Given the description of an element on the screen output the (x, y) to click on. 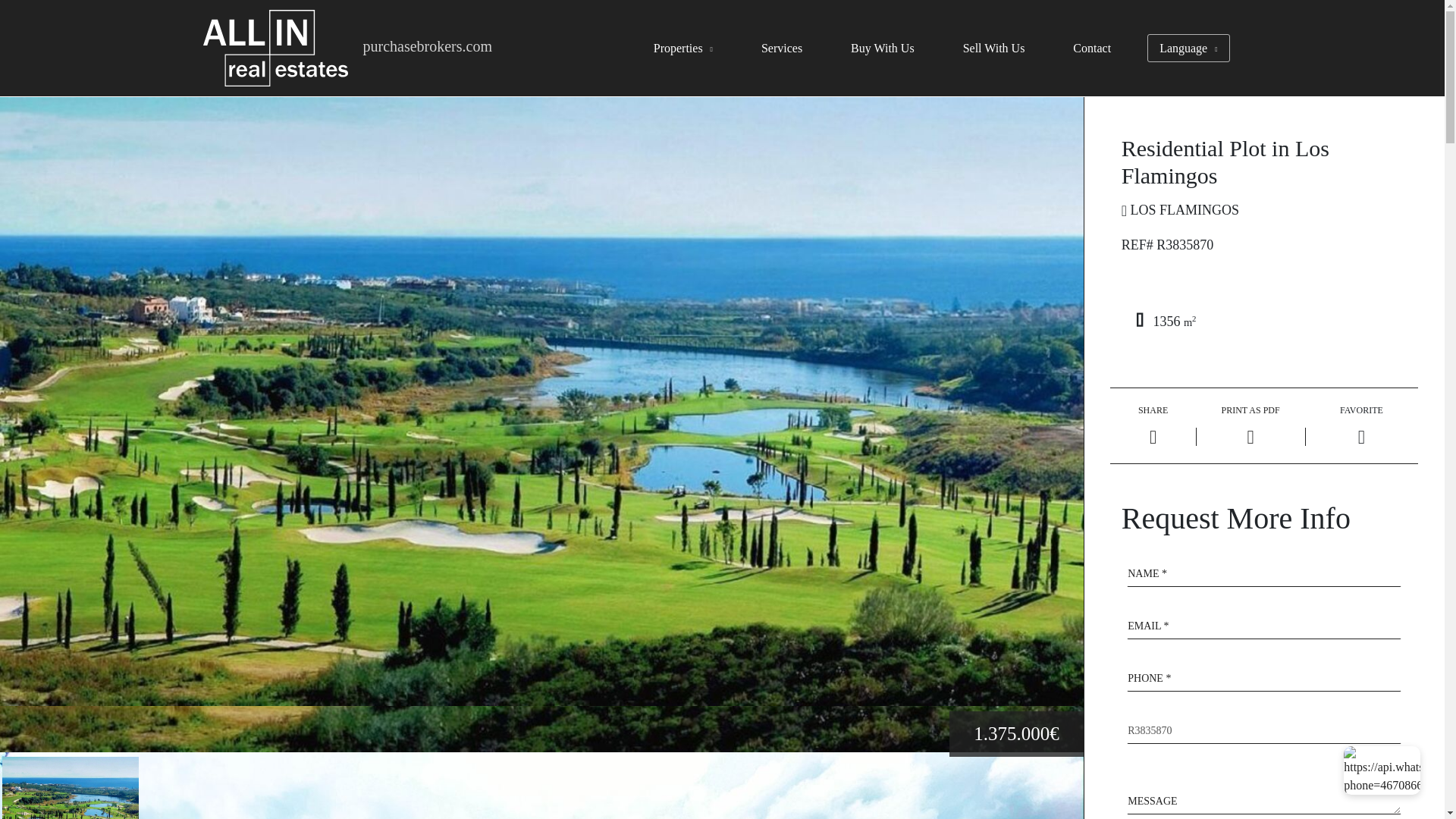
Contact (1091, 48)
Sell With Us (993, 48)
Sell With Us (993, 48)
Services (781, 48)
PRINT AS PDF (1250, 425)
Properties (683, 48)
Buy With Us (882, 48)
Contact (1091, 48)
FAVORITE (1361, 425)
Language (1187, 48)
